Given the description of an element on the screen output the (x, y) to click on. 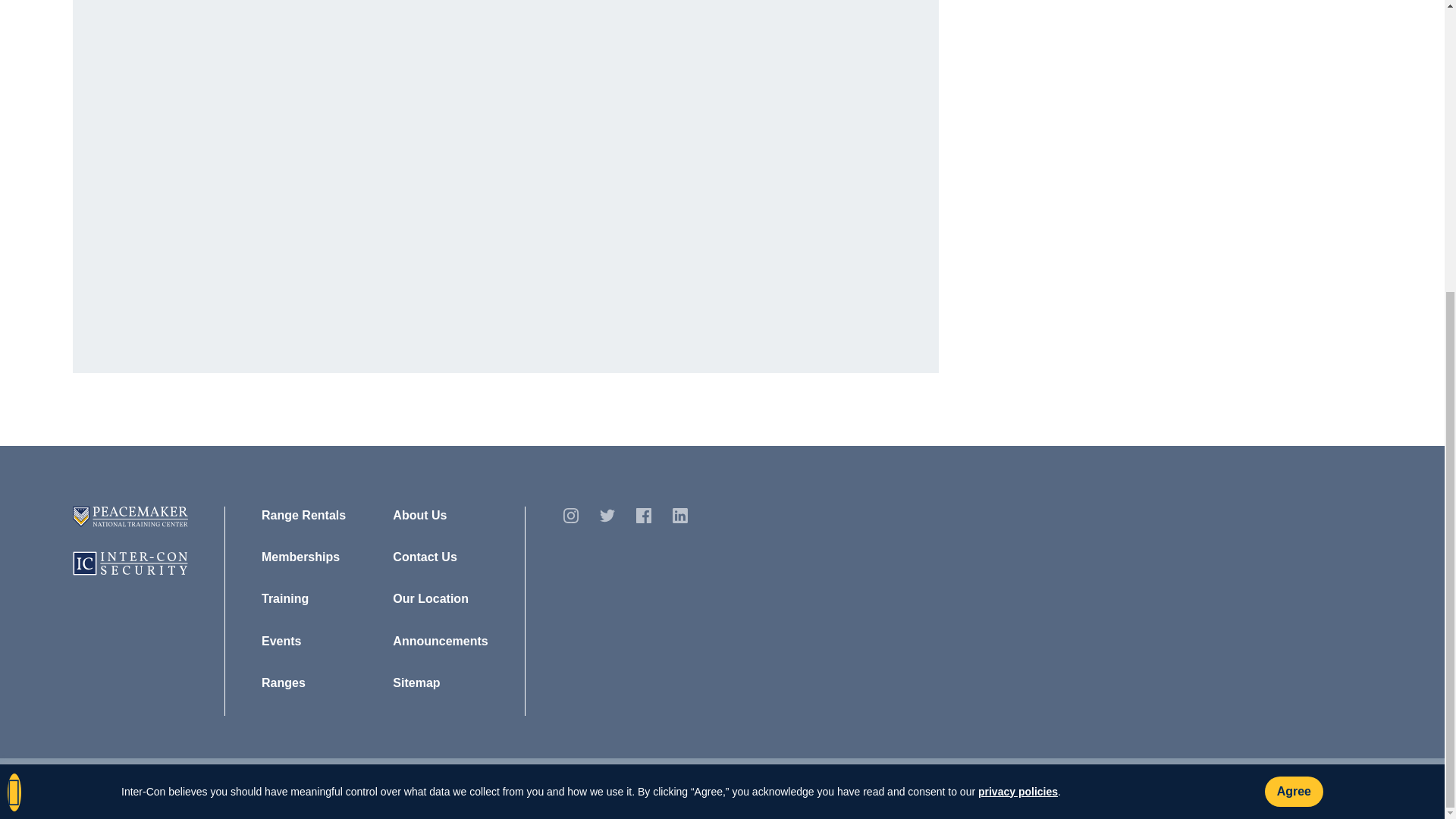
Range Rentals (304, 515)
Our Location (430, 599)
Agree (1294, 345)
Sitemap (416, 683)
Ranges (283, 683)
About Us (419, 515)
Memberships (300, 557)
Training (285, 599)
Privacy Policy (224, 787)
privacy policies (1018, 345)
Announcements (440, 641)
Events (281, 641)
Contact Us (425, 557)
